Given the description of an element on the screen output the (x, y) to click on. 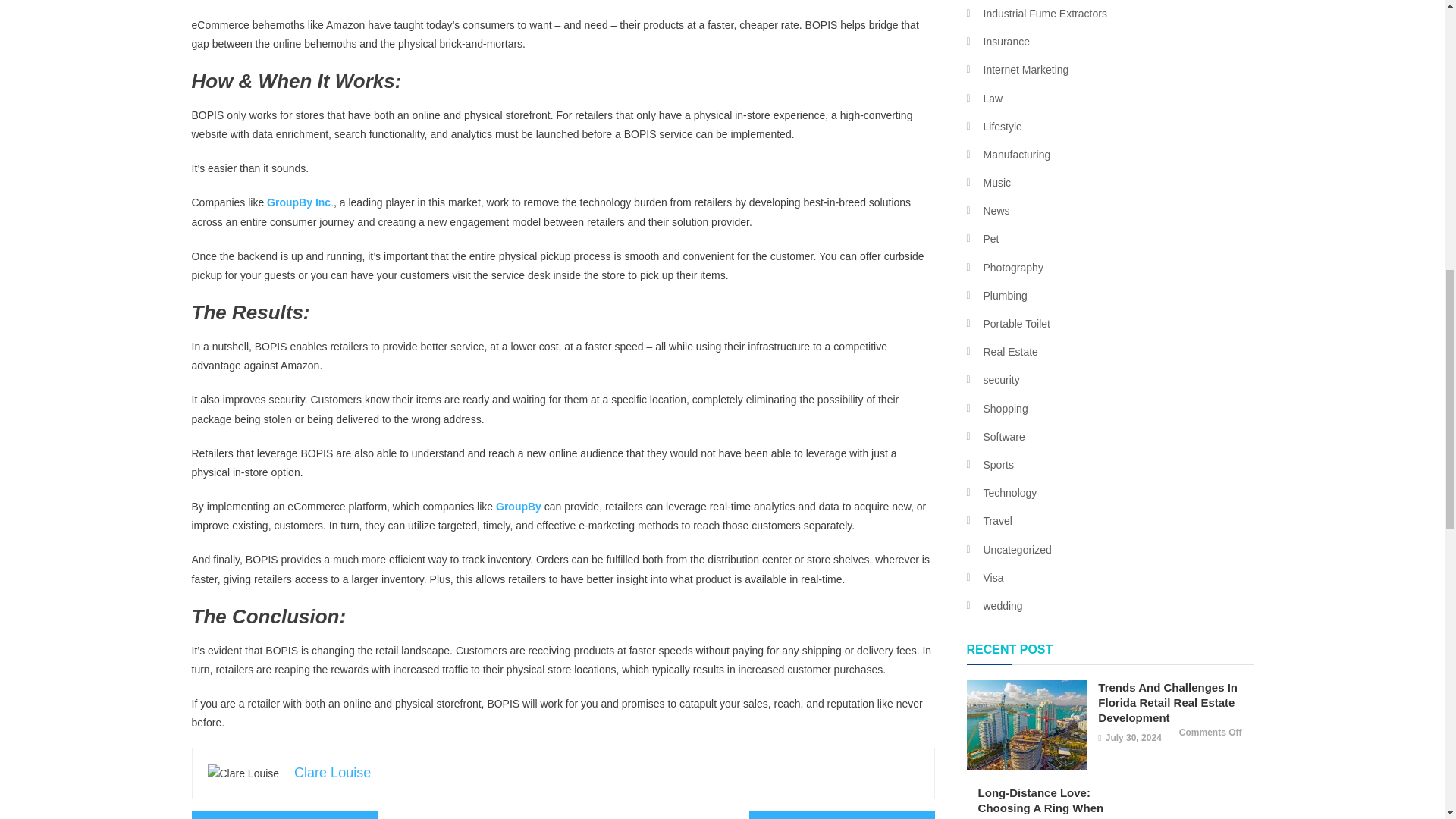
GroupBy (518, 506)
Which are the most popular slot games available online? (283, 814)
Clare Louise (332, 772)
GroupBy Inc. (299, 202)
